Given the description of an element on the screen output the (x, y) to click on. 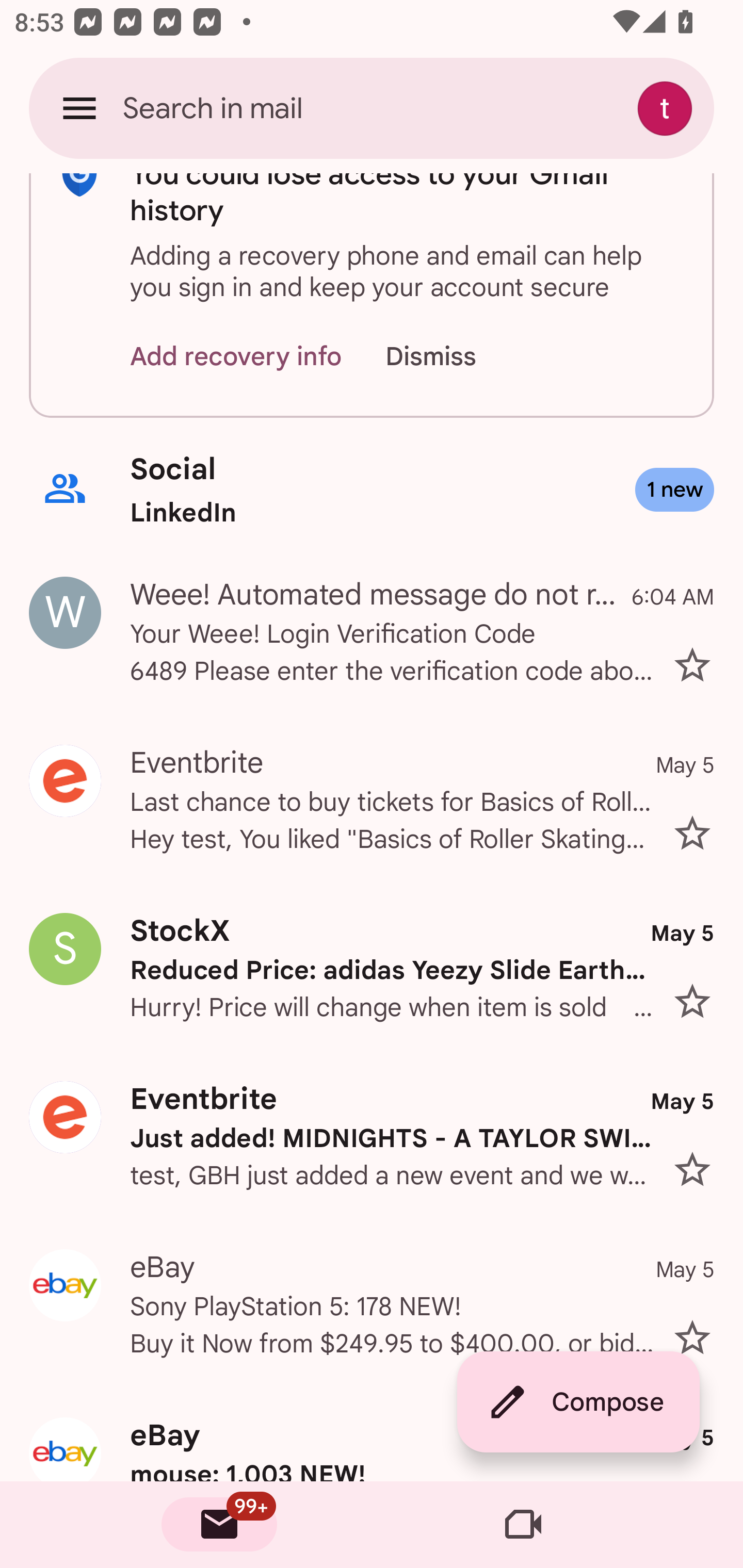
Open navigation drawer (79, 108)
Add recovery info (235, 356)
Dismiss (449, 356)
Social LinkedIn 1 new (371, 489)
Compose (577, 1401)
Meet (523, 1524)
